Given the description of an element on the screen output the (x, y) to click on. 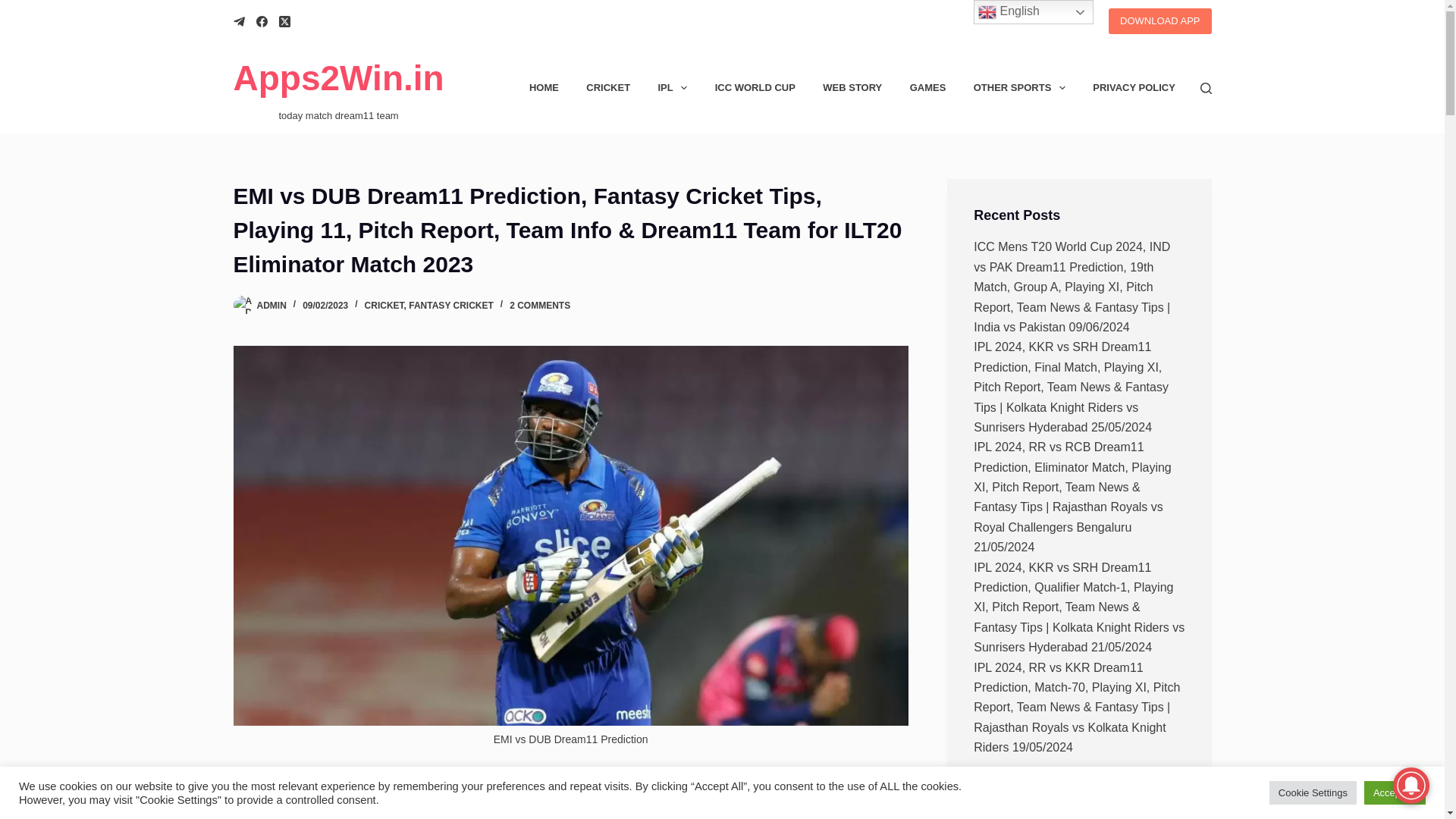
Skip to content (15, 7)
English (1033, 12)
Apps2Win.in (338, 77)
DOWNLOAD APP (1159, 21)
